Given the description of an element on the screen output the (x, y) to click on. 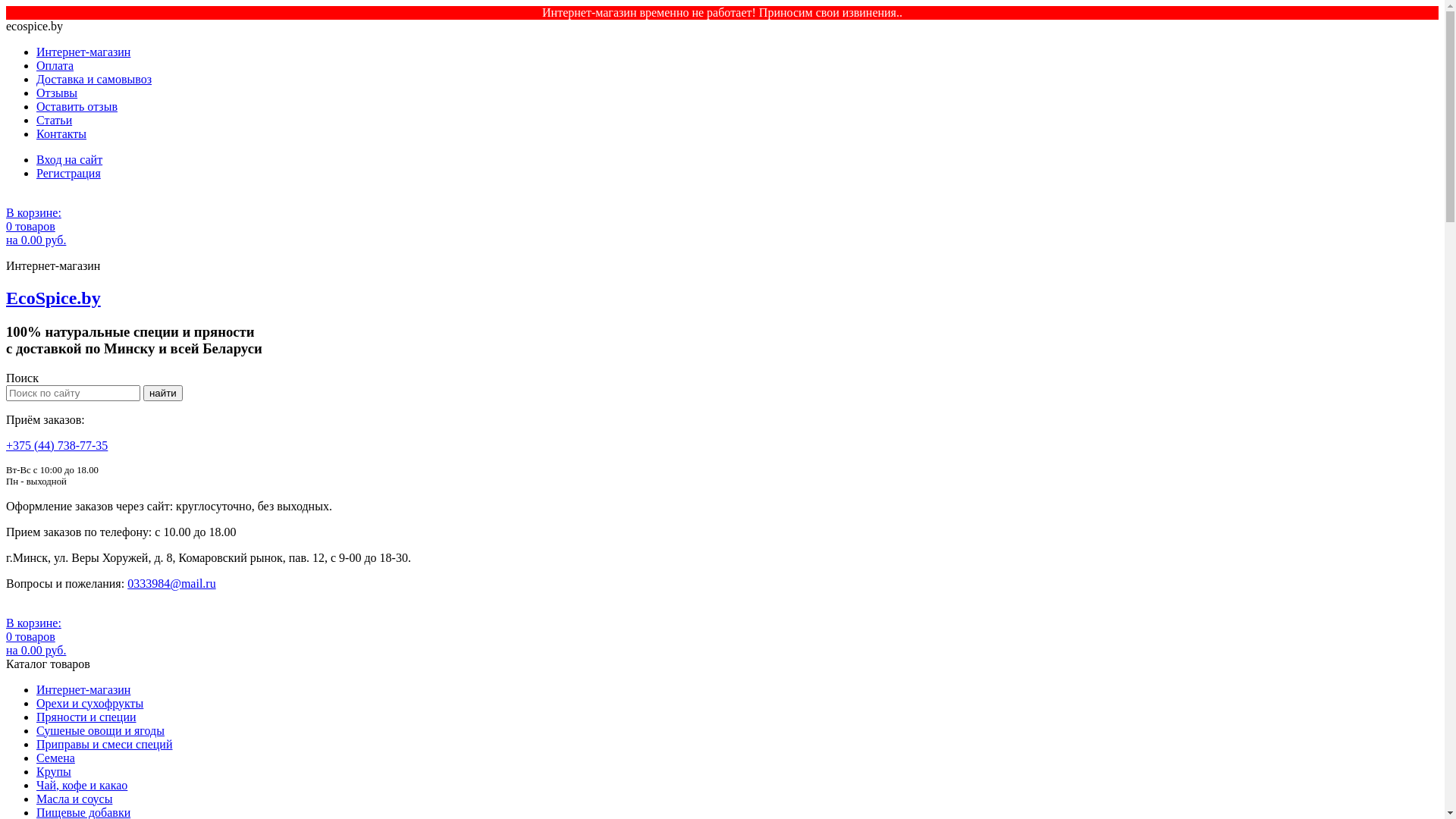
+375 (44) 738-77-35 Element type: text (56, 445)
0333984@mail.ru Element type: text (171, 583)
EcoSpice.by Element type: text (53, 297)
